Given the description of an element on the screen output the (x, y) to click on. 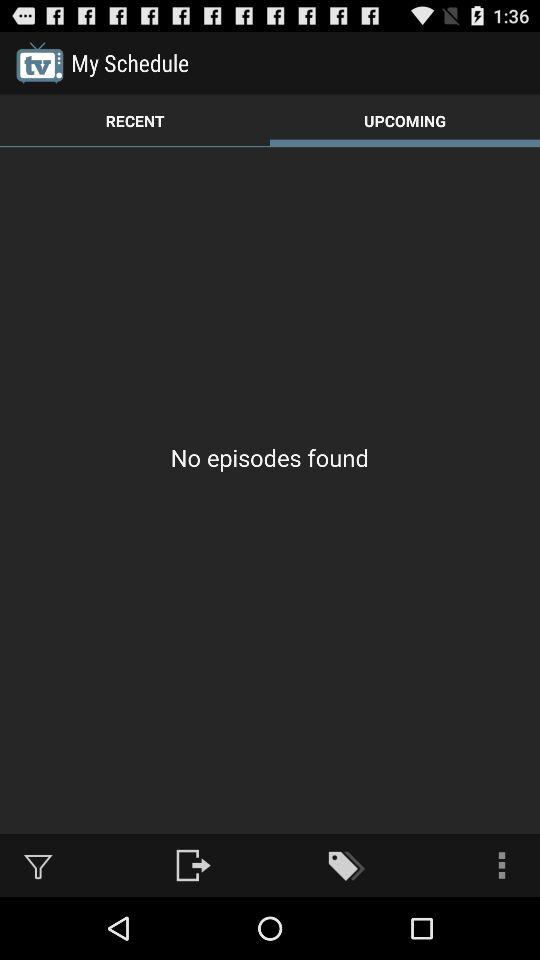
turn on item next to the upcoming item (135, 120)
